Given the description of an element on the screen output the (x, y) to click on. 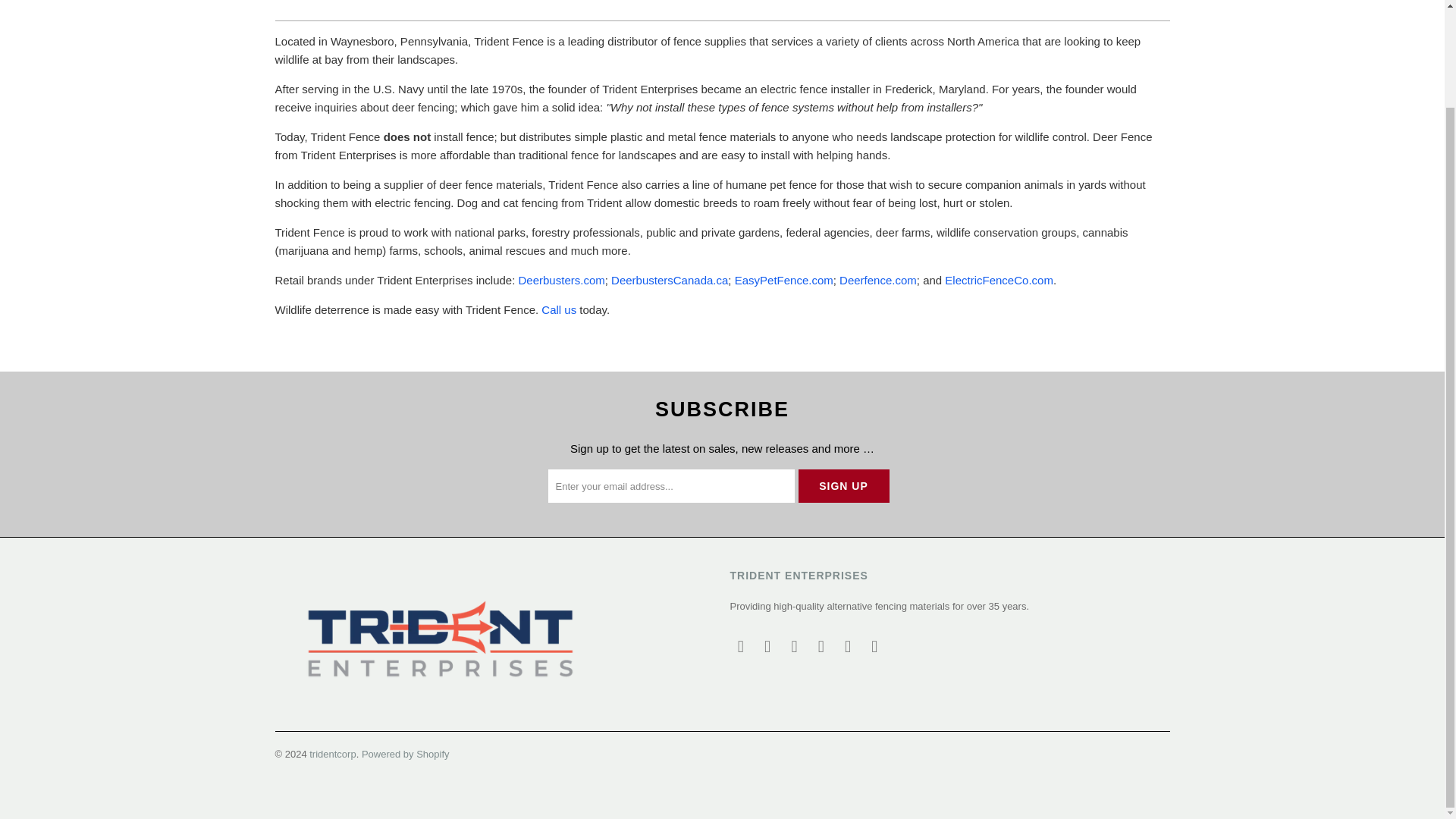
Electric Fence Company (998, 279)
Deerbusters Deer Fence (561, 279)
tridentcorp on LinkedIn (848, 647)
Deerbusters Canada (669, 279)
tridentcorp on Instagram (820, 647)
tridentcorp on YouTube (794, 647)
Sign Up (842, 485)
Contact TridentCorp.com (558, 309)
EasyPetFence.com (783, 279)
tridentcorp on Facebook (767, 647)
tridentcorp on Twitter (740, 647)
